Given the description of an element on the screen output the (x, y) to click on. 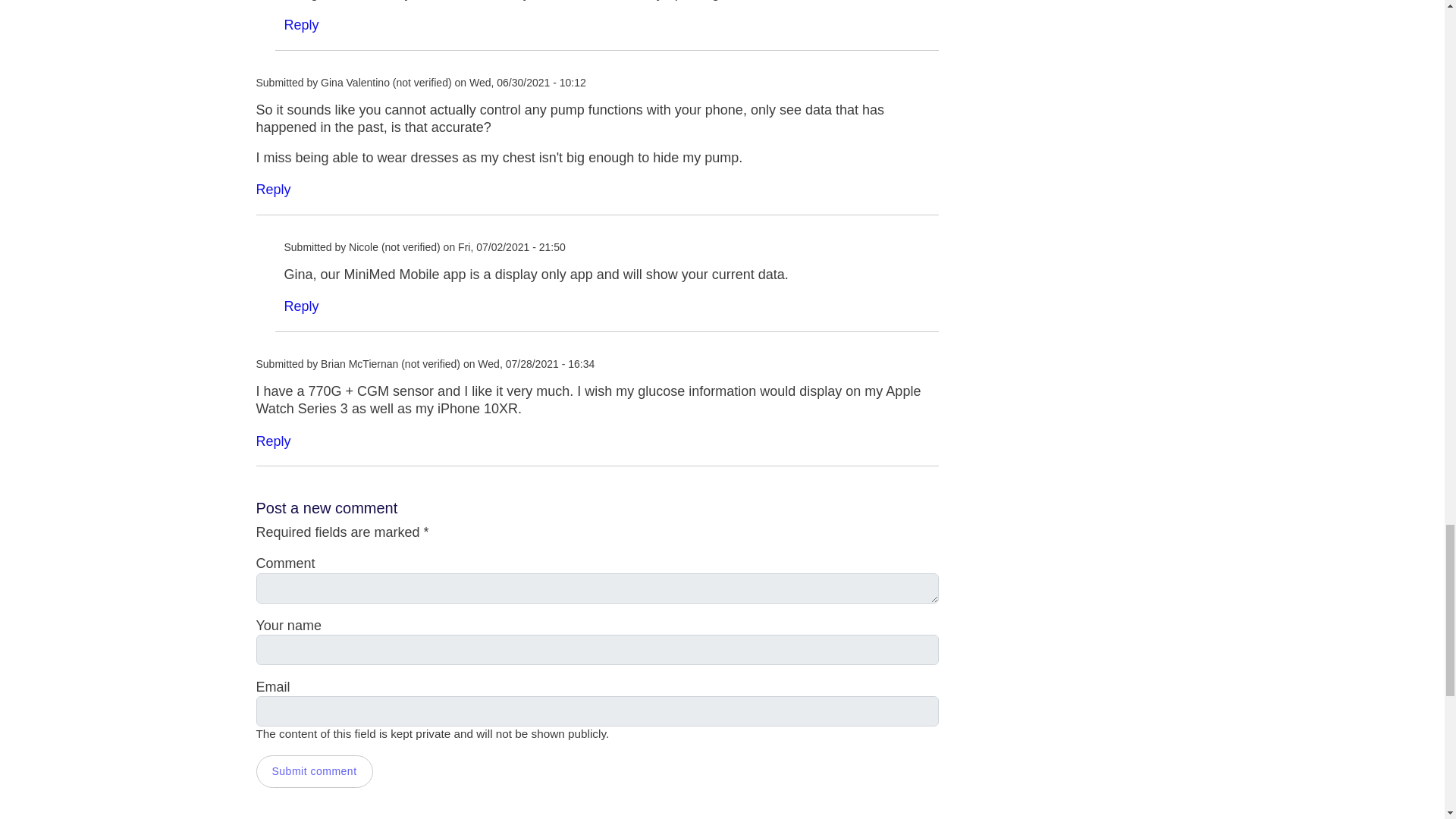
Submit comment (314, 771)
